Given the description of an element on the screen output the (x, y) to click on. 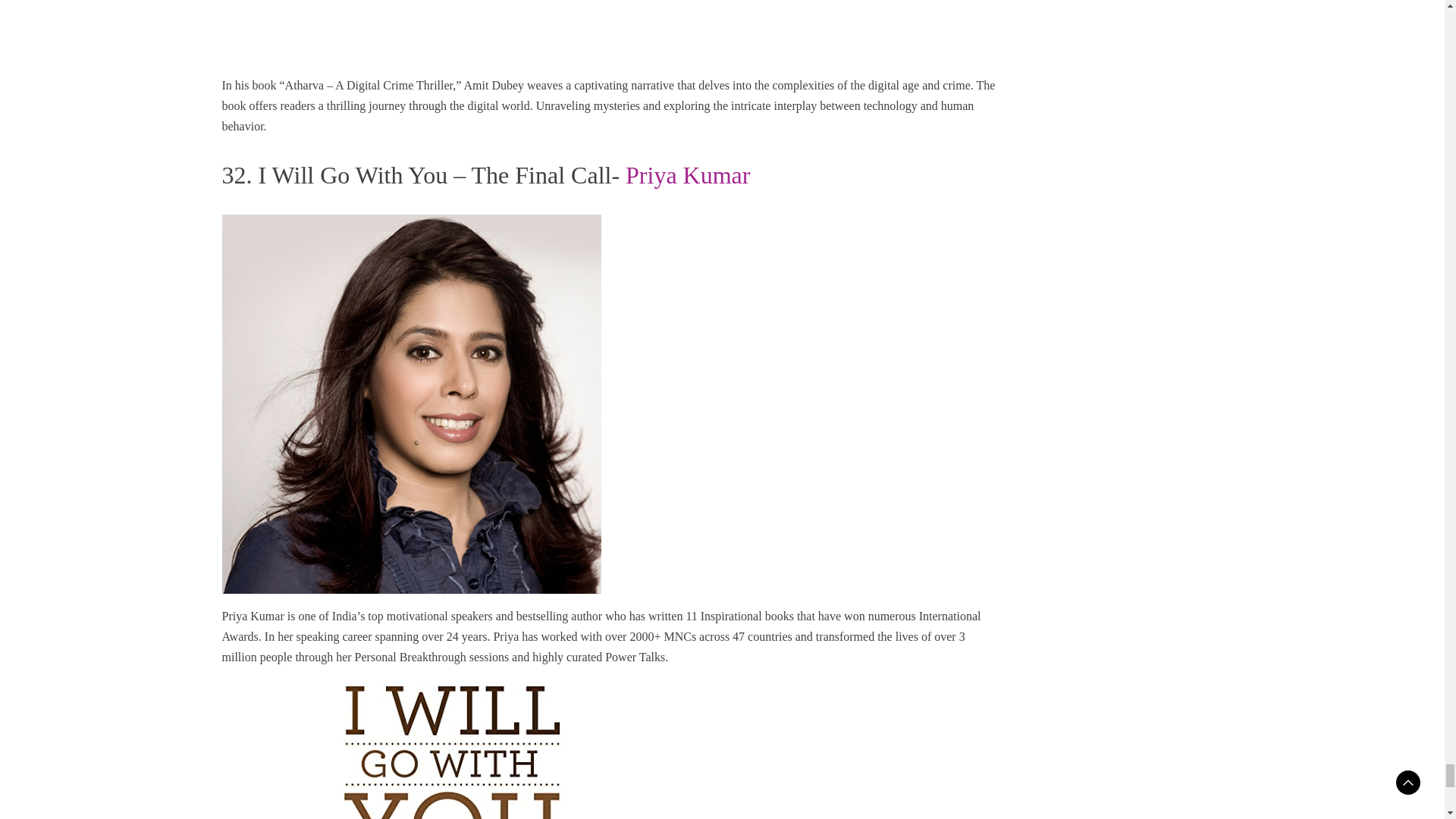
Priya Kumar (687, 175)
